Given the description of an element on the screen output the (x, y) to click on. 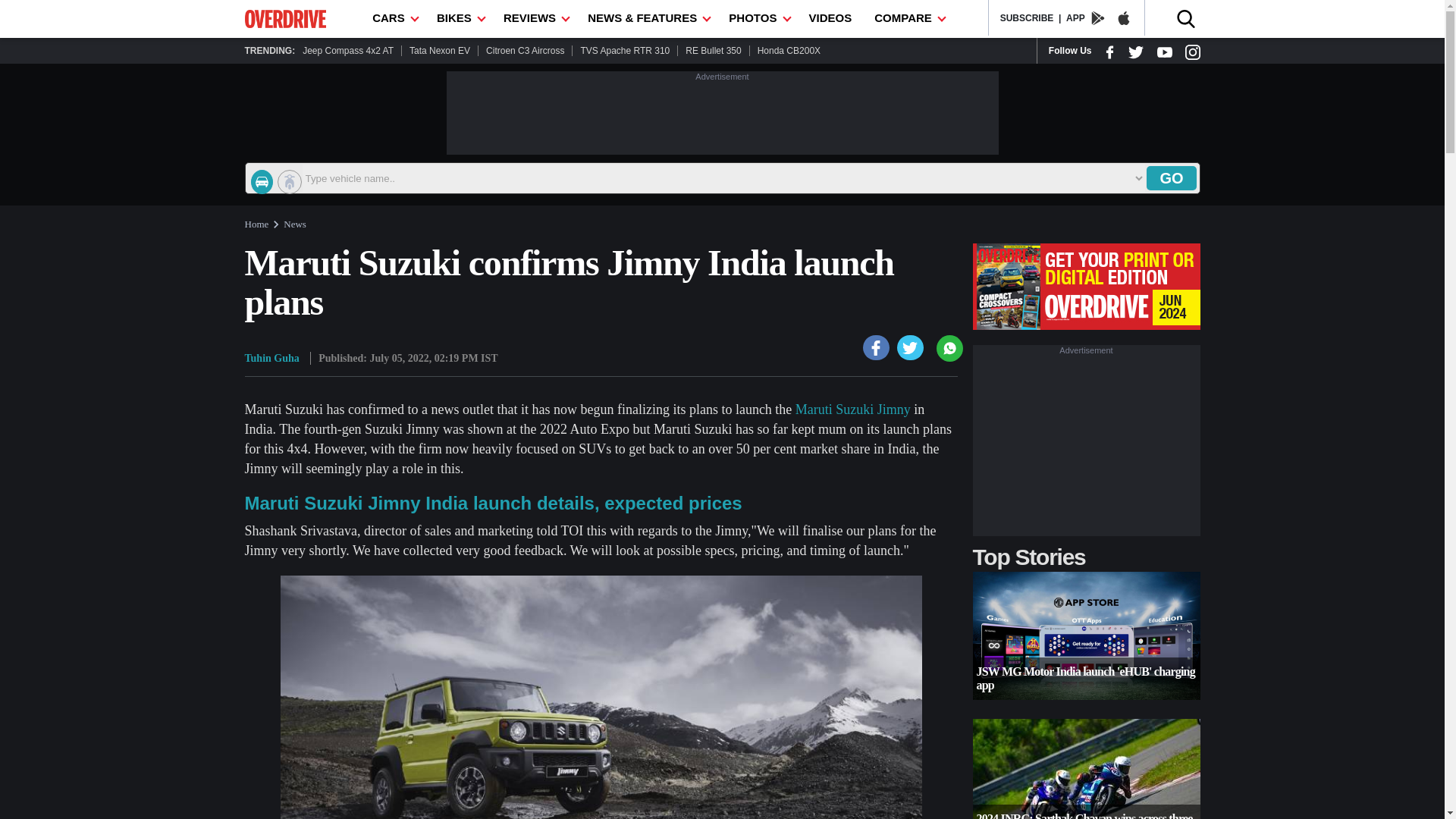
PHOTOS (756, 18)
REVIEWS (534, 18)
Maruti Suzuki confirms Jimny India launch plans (909, 347)
Maruti Suzuki confirms Jimny India launch plans (876, 347)
BIKES (458, 18)
CARS (393, 18)
